Given the description of an element on the screen output the (x, y) to click on. 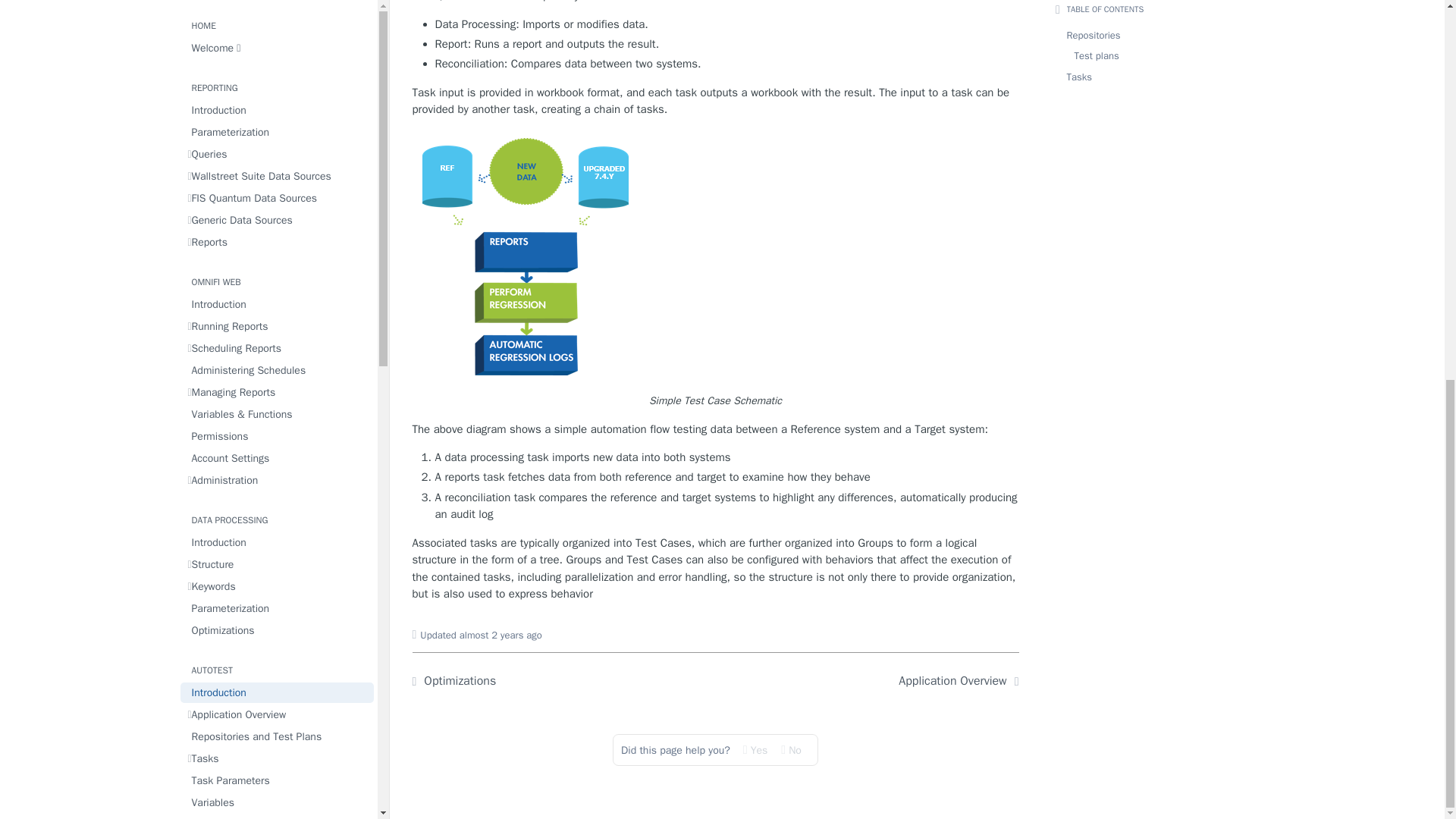
autotest-tasks.png (527, 258)
